Given the description of an element on the screen output the (x, y) to click on. 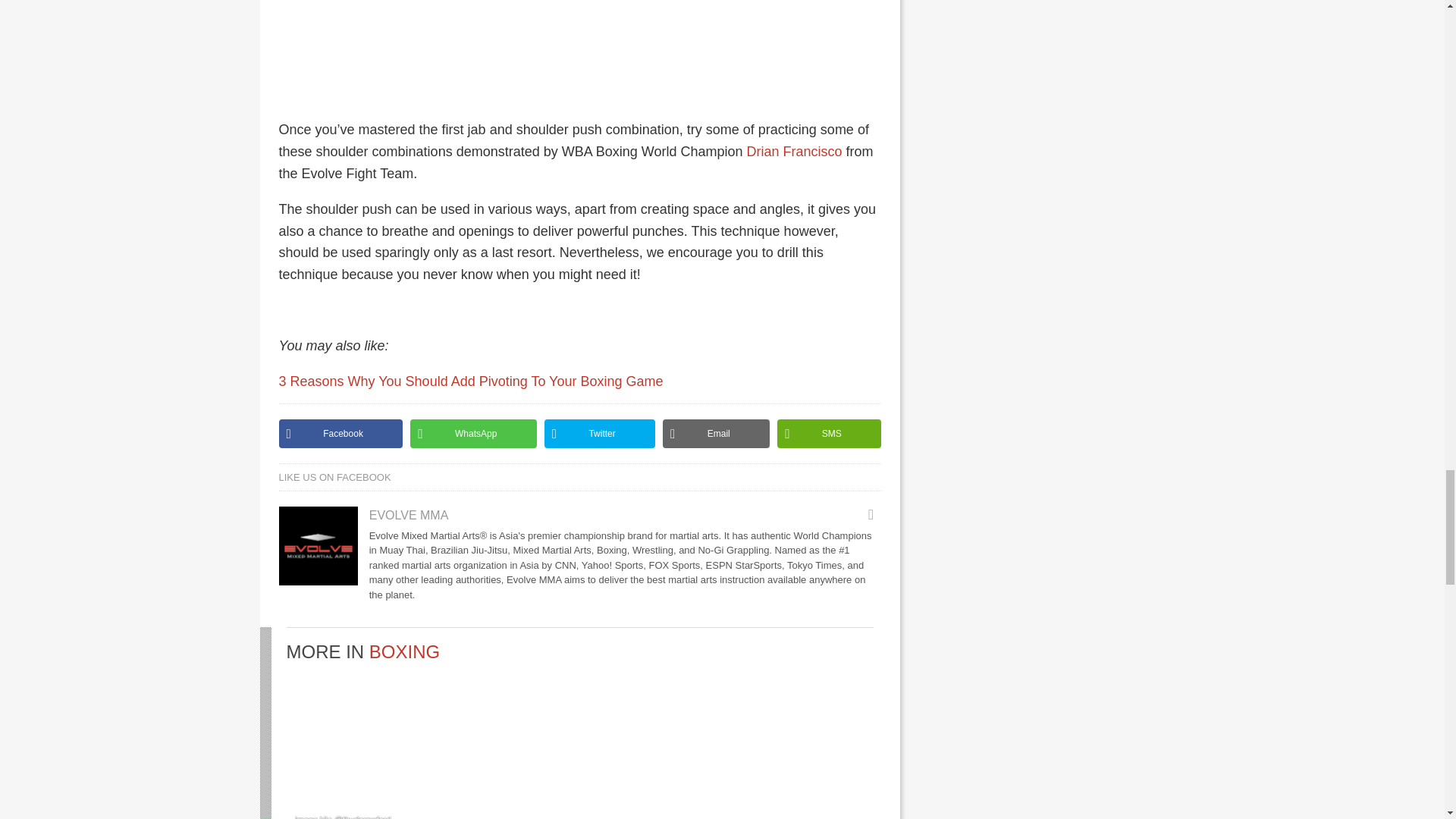
Boxing (404, 651)
